Given the description of an element on the screen output the (x, y) to click on. 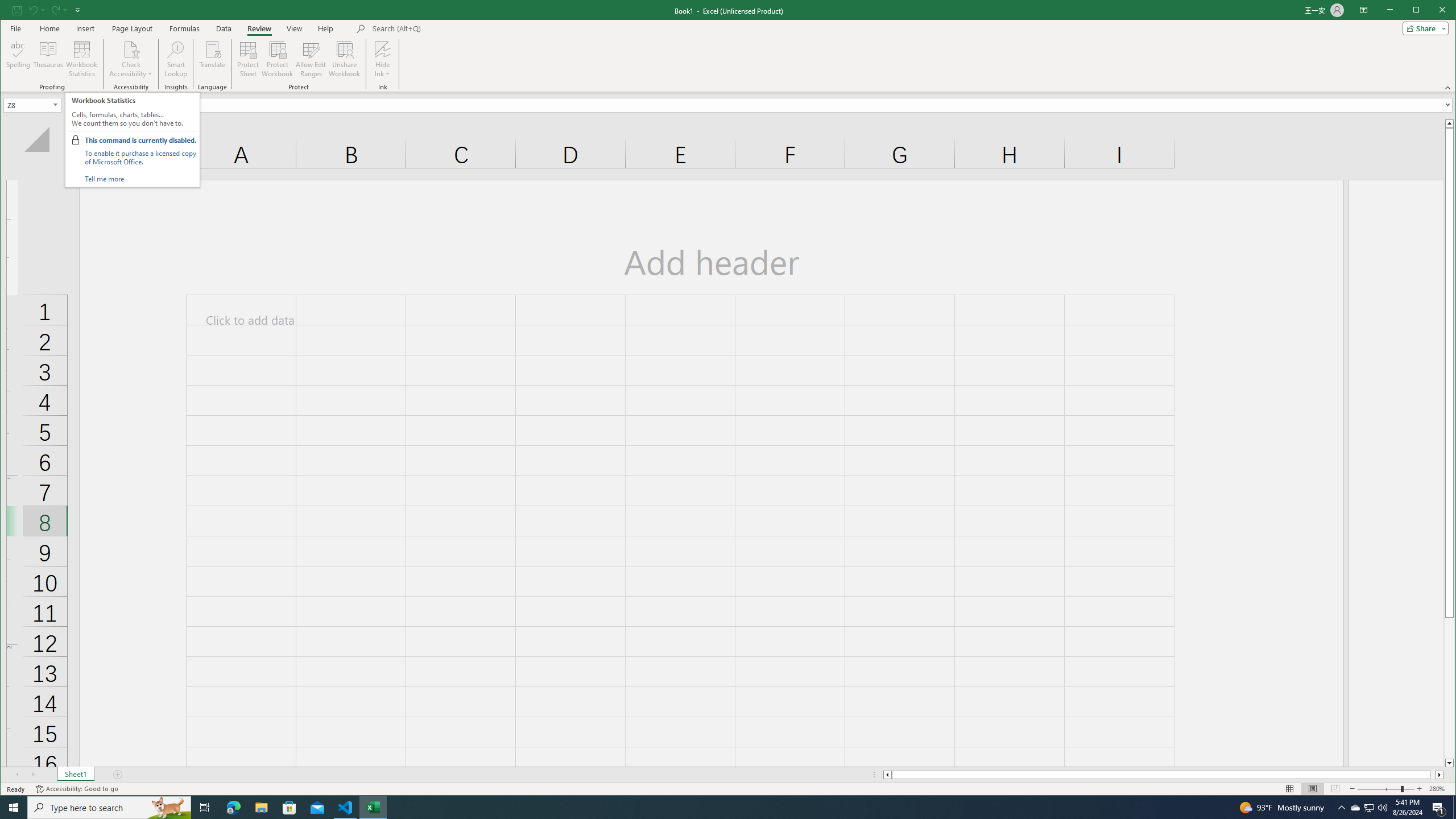
Check Accessibility (130, 48)
Class: NetUIScrollBar (1163, 774)
Minimize (1419, 11)
Running applications (717, 807)
Ribbon Display Options (1364, 9)
Line down (1449, 763)
Class: NetUIImage (75, 139)
Visual Studio Code - 1 running window (345, 807)
Home (49, 28)
Name Box (27, 104)
Protect Workbook... (277, 59)
Search highlights icon opens search home window (167, 807)
Collapse the Ribbon (1448, 87)
Quick Access Toolbar (46, 9)
